Given the description of an element on the screen output the (x, y) to click on. 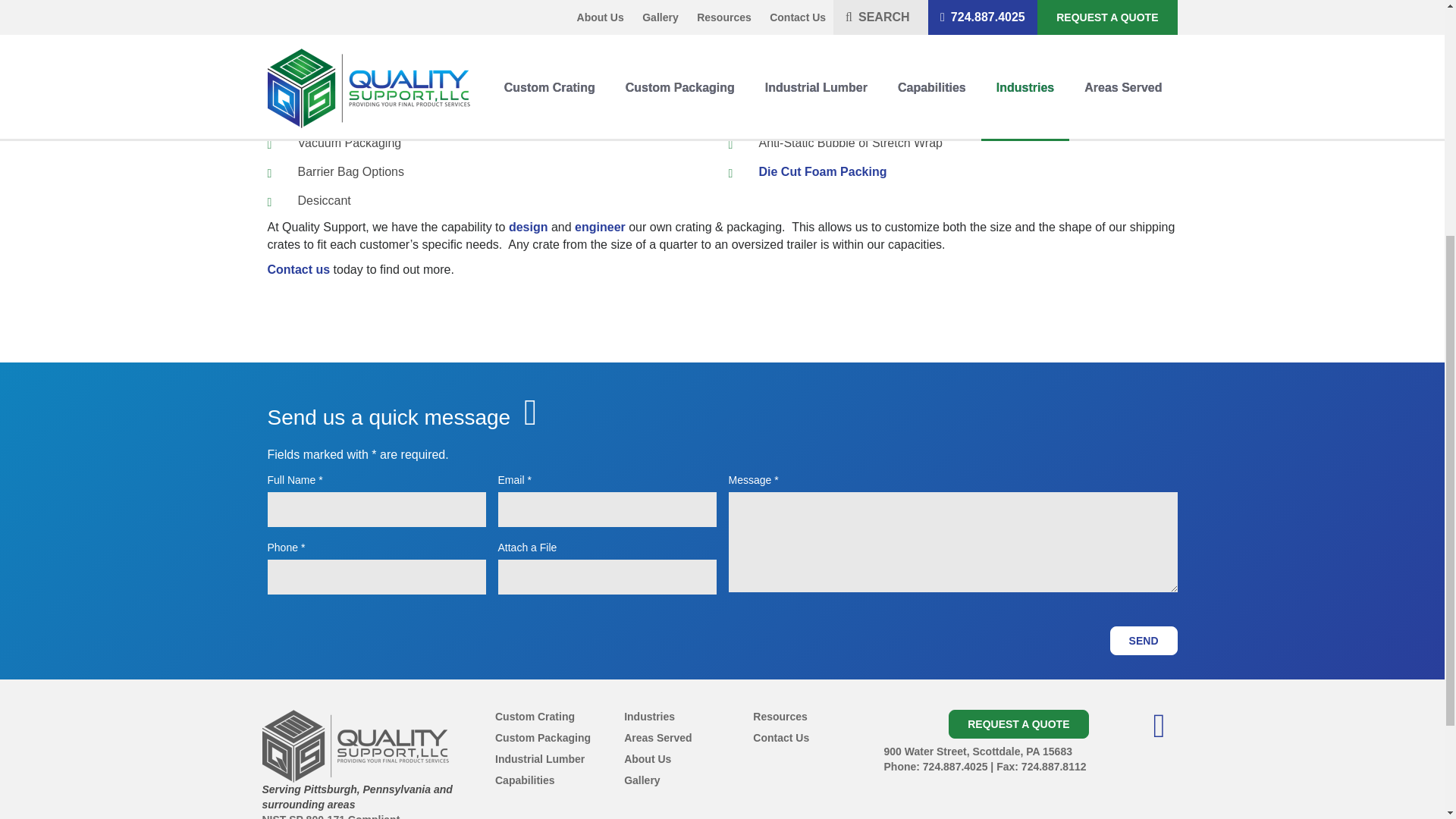
Send (1143, 640)
